Given the description of an element on the screen output the (x, y) to click on. 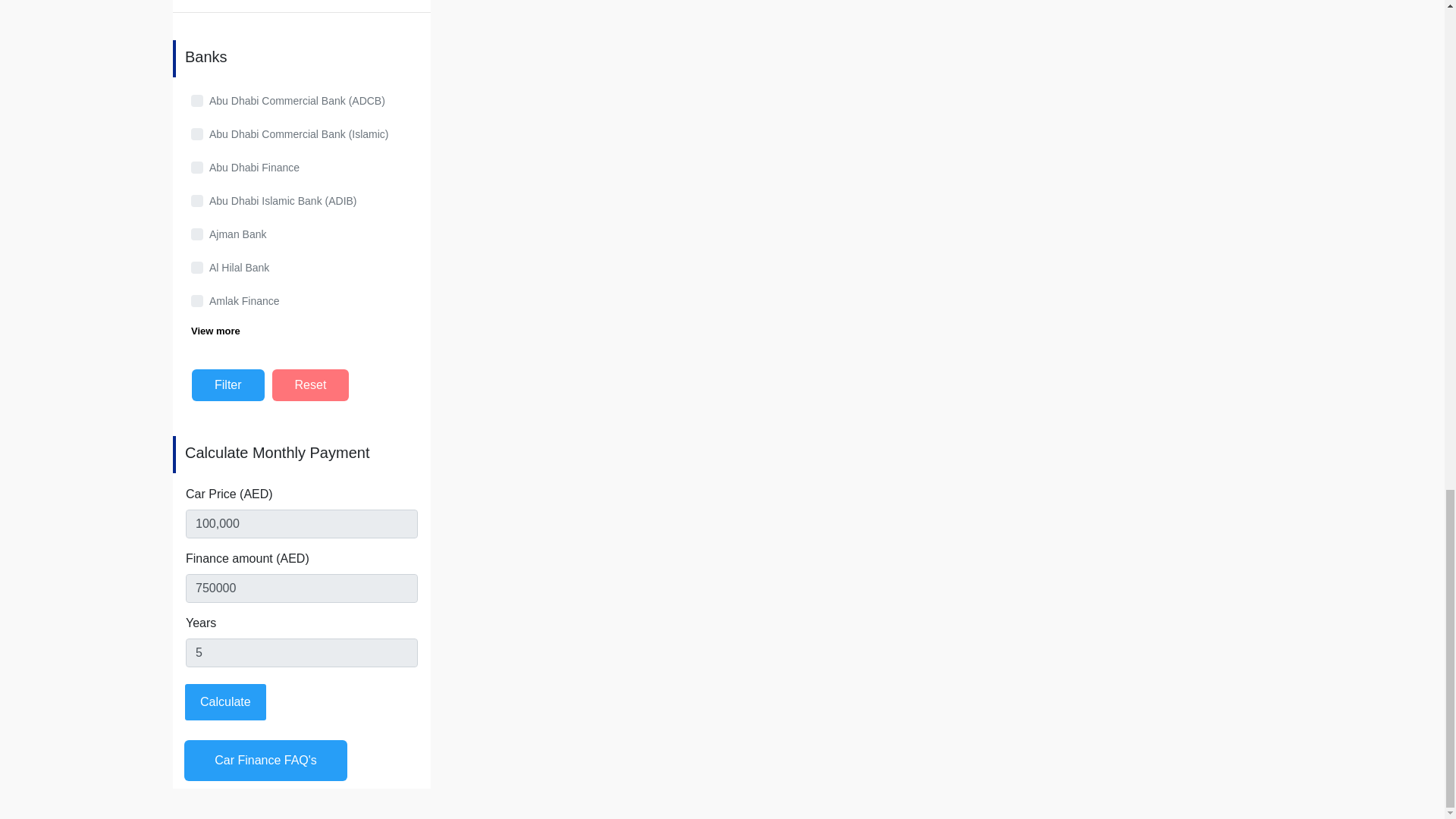
Calculate (225, 701)
100,000 (301, 522)
750000 (301, 588)
5 (301, 652)
Reset (310, 385)
